Given the description of an element on the screen output the (x, y) to click on. 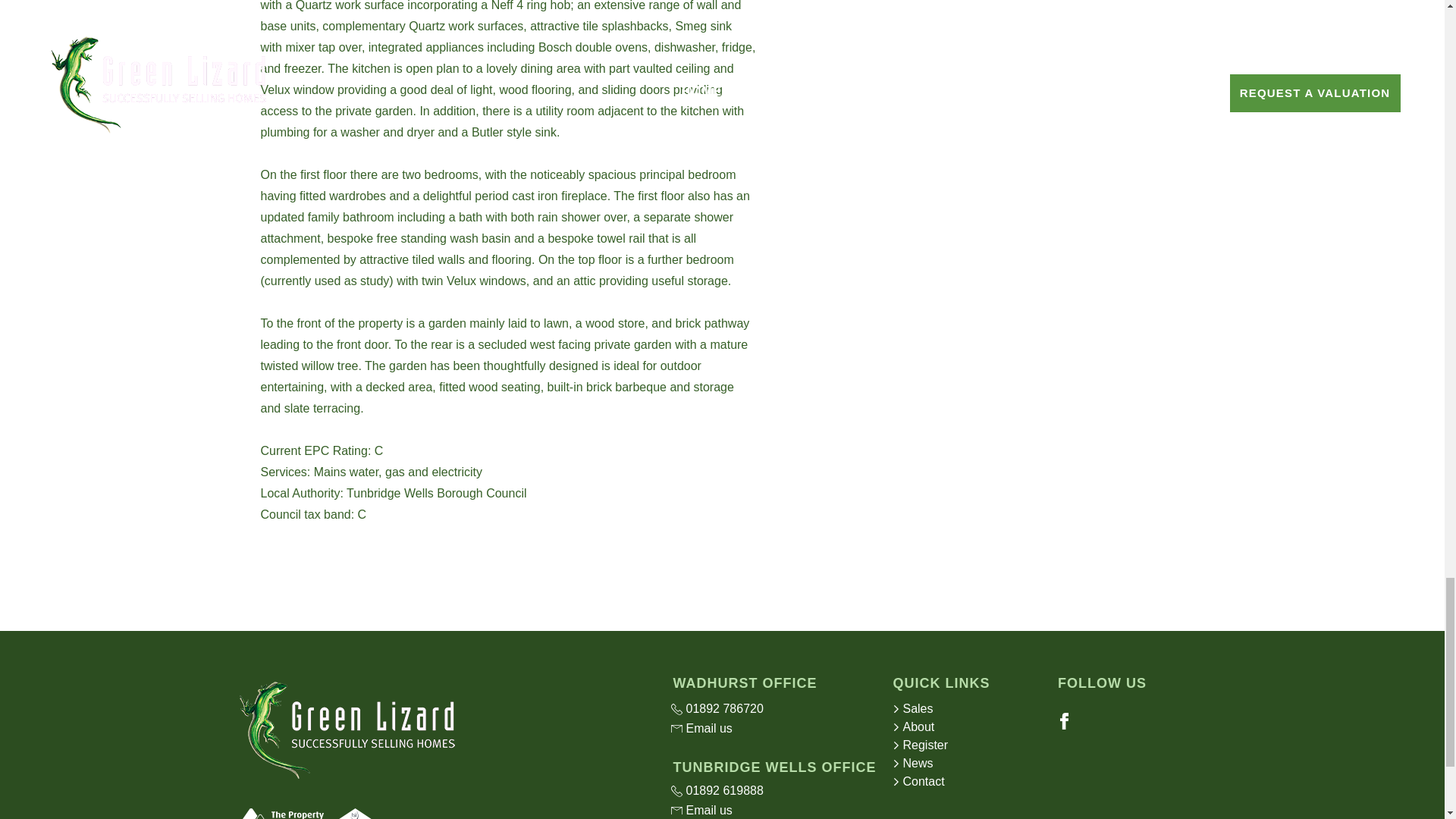
01892 619888 (771, 791)
01892 786720 (771, 709)
Email us (771, 728)
